Given the description of an element on the screen output the (x, y) to click on. 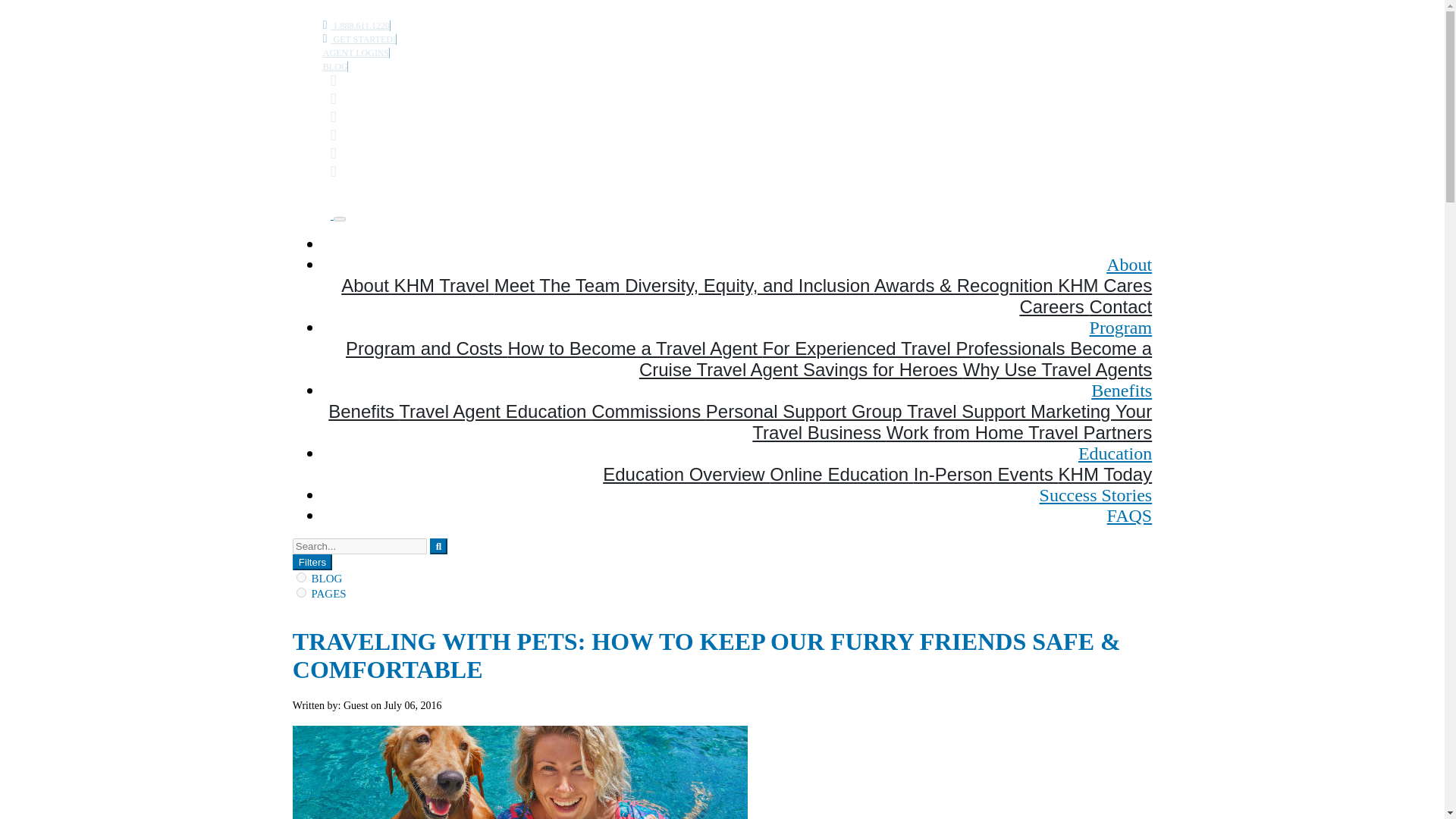
Program and Costs (426, 348)
AGENT LOGINS (356, 52)
Savings for Heroes (882, 369)
Careers (1054, 306)
Marketing Your Travel Business (951, 422)
post (301, 577)
Meet The Team (560, 285)
Commissions (648, 411)
Travel Agent Education (494, 411)
BLOG (336, 66)
Travel Partners (1089, 432)
Education Overview (686, 474)
Group Travel Support (940, 411)
Diversity, Equity, and Inclusion (749, 285)
Why Use Travel Agents (1056, 369)
